Given the description of an element on the screen output the (x, y) to click on. 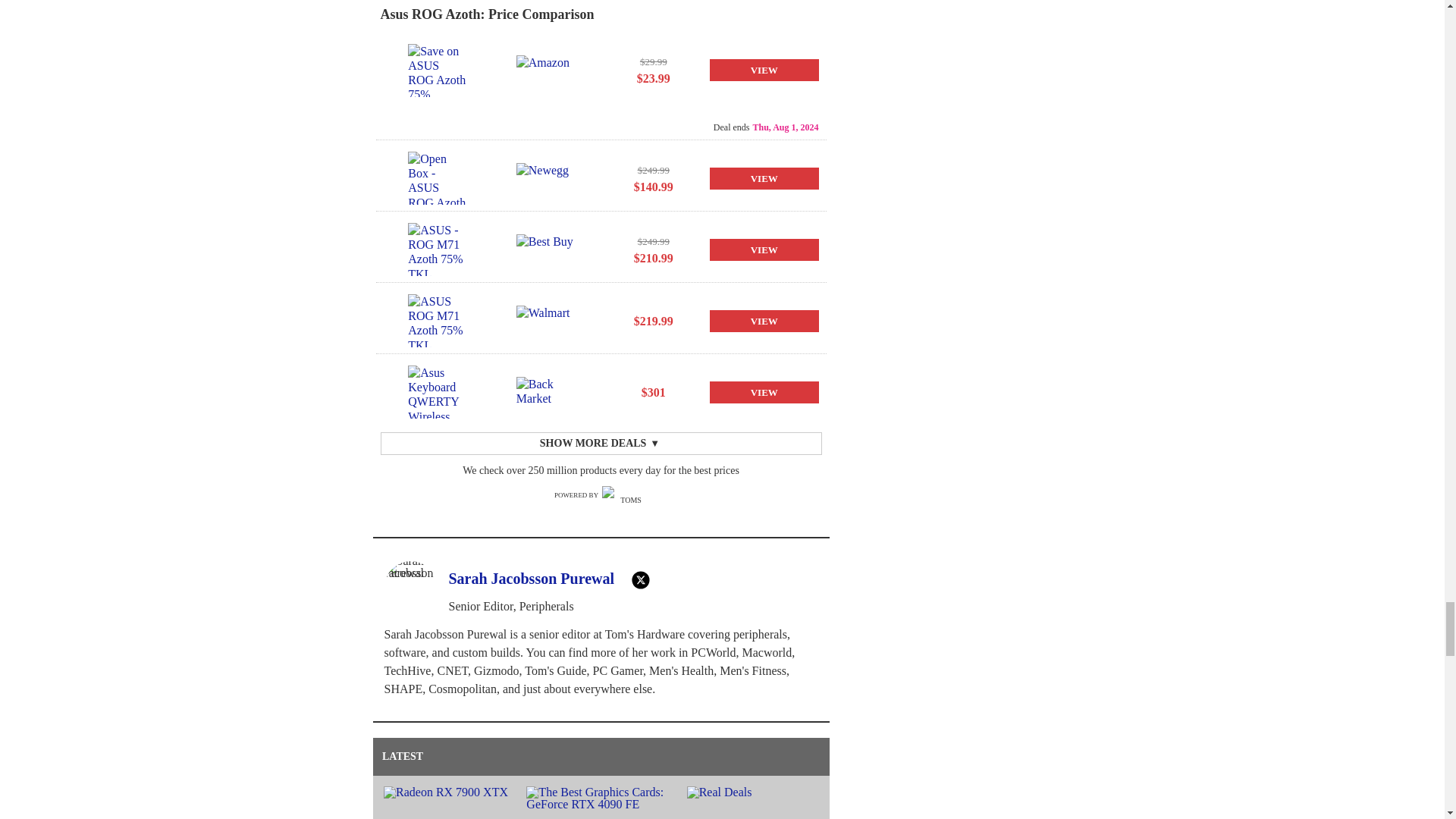
Newegg (546, 177)
Amazon (546, 70)
Open Box - ASUS ROG Azoth 75... (437, 177)
Toms Hardware (624, 495)
Best Buy (546, 249)
Walmart (546, 320)
Asus Keyboard QWERTY Wireless... (437, 391)
